Given the description of an element on the screen output the (x, y) to click on. 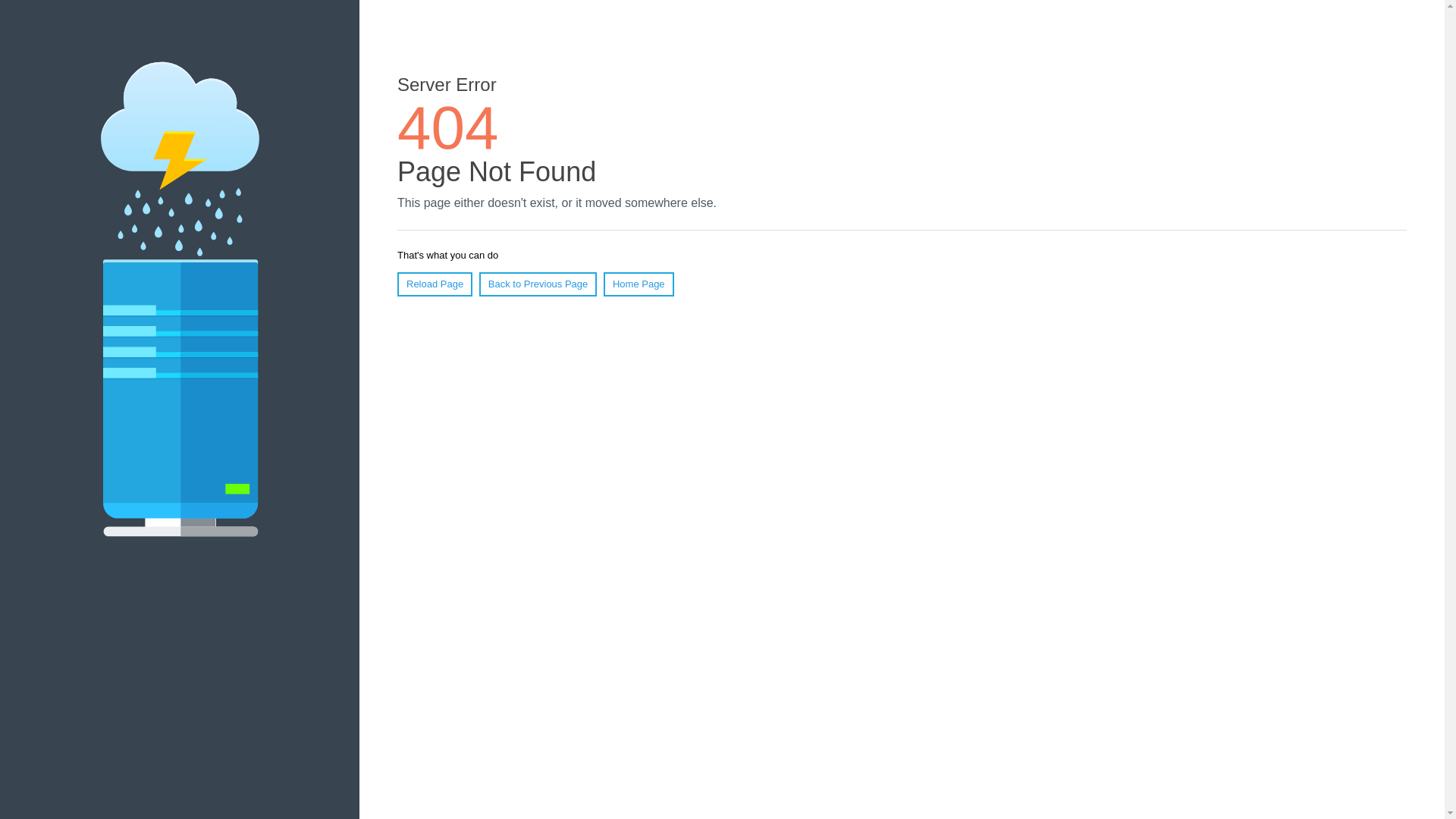
Back to Previous Page Element type: text (538, 284)
Reload Page Element type: text (434, 284)
Home Page Element type: text (638, 284)
